Given the description of an element on the screen output the (x, y) to click on. 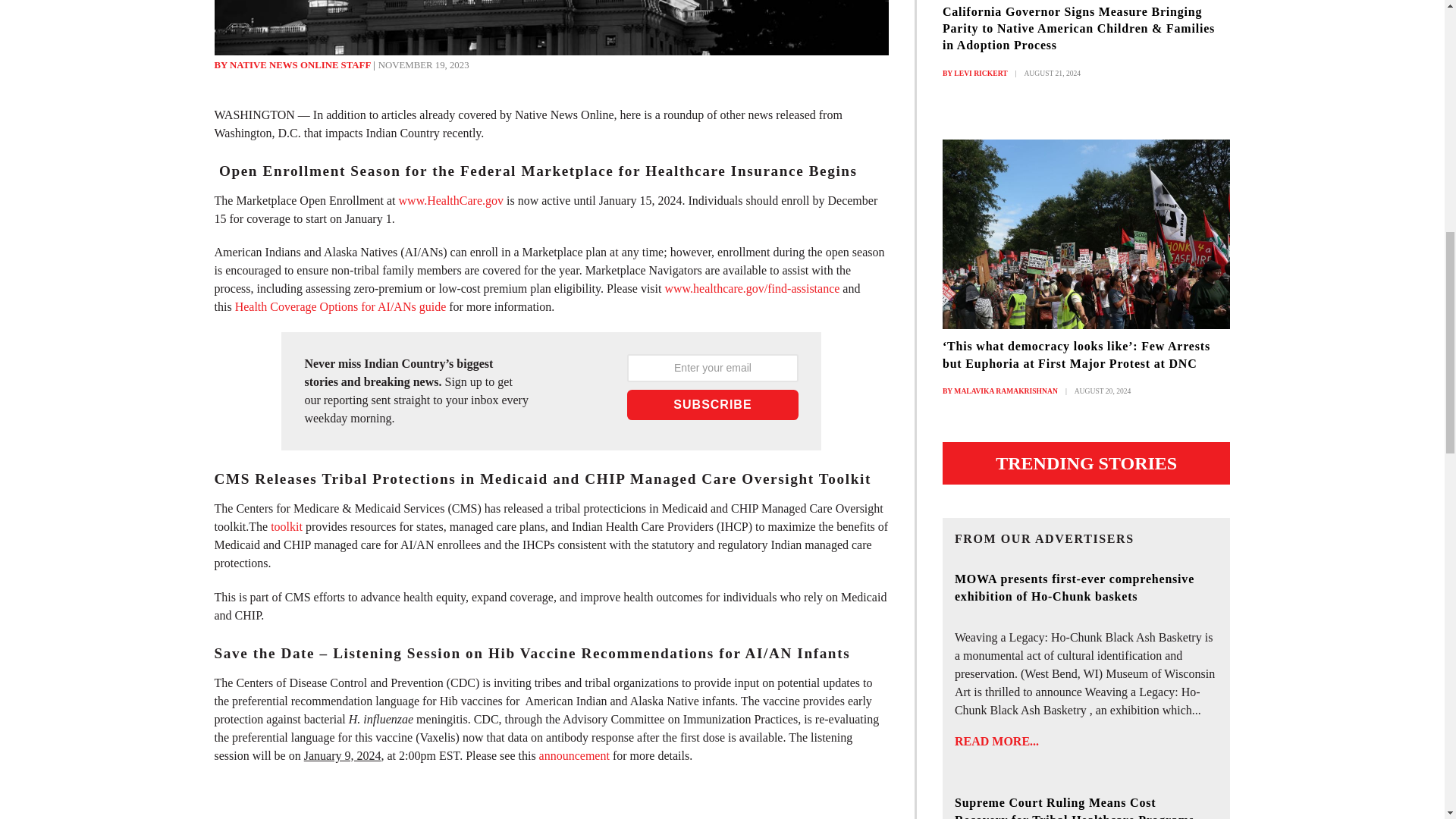
www.HealthCare.gov (450, 200)
toolkit (286, 526)
Subscribe (712, 404)
YouTube video player (550, 799)
announcement (574, 755)
announcement (574, 755)
Subscribe (712, 404)
